Given the description of an element on the screen output the (x, y) to click on. 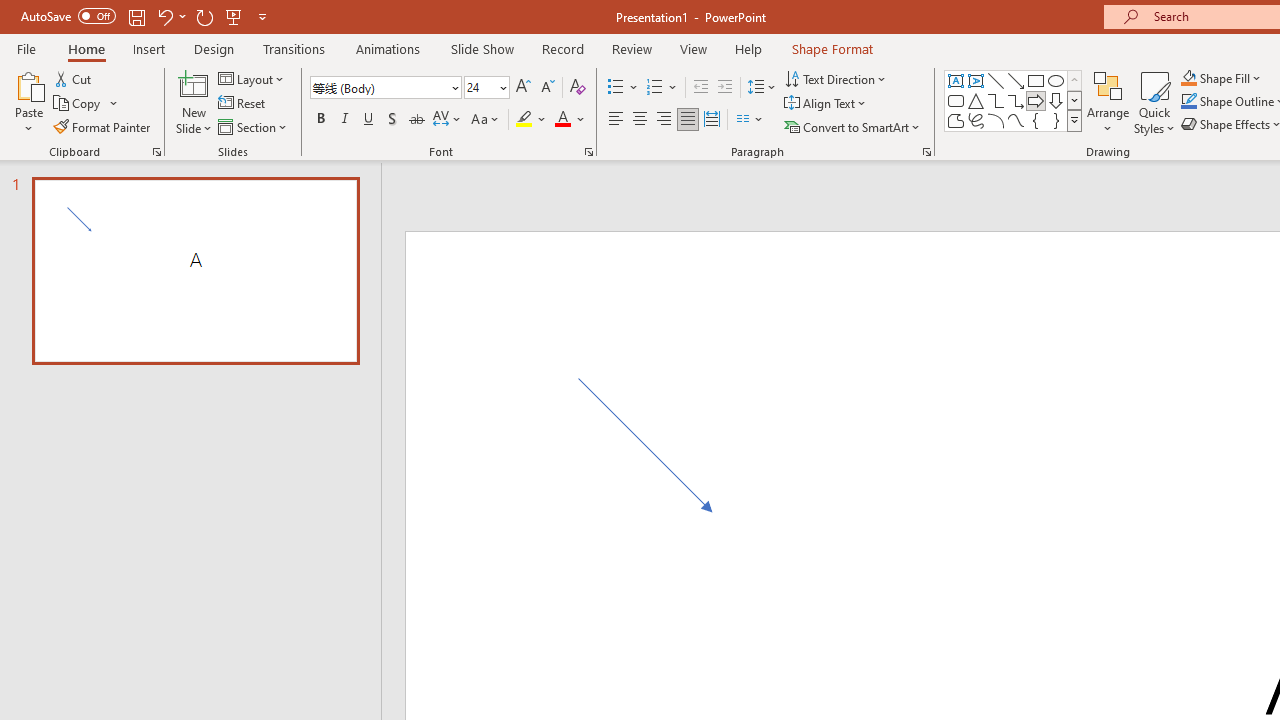
Shape Outline Blue, Accent 1 (1188, 101)
